Given the description of an element on the screen output the (x, y) to click on. 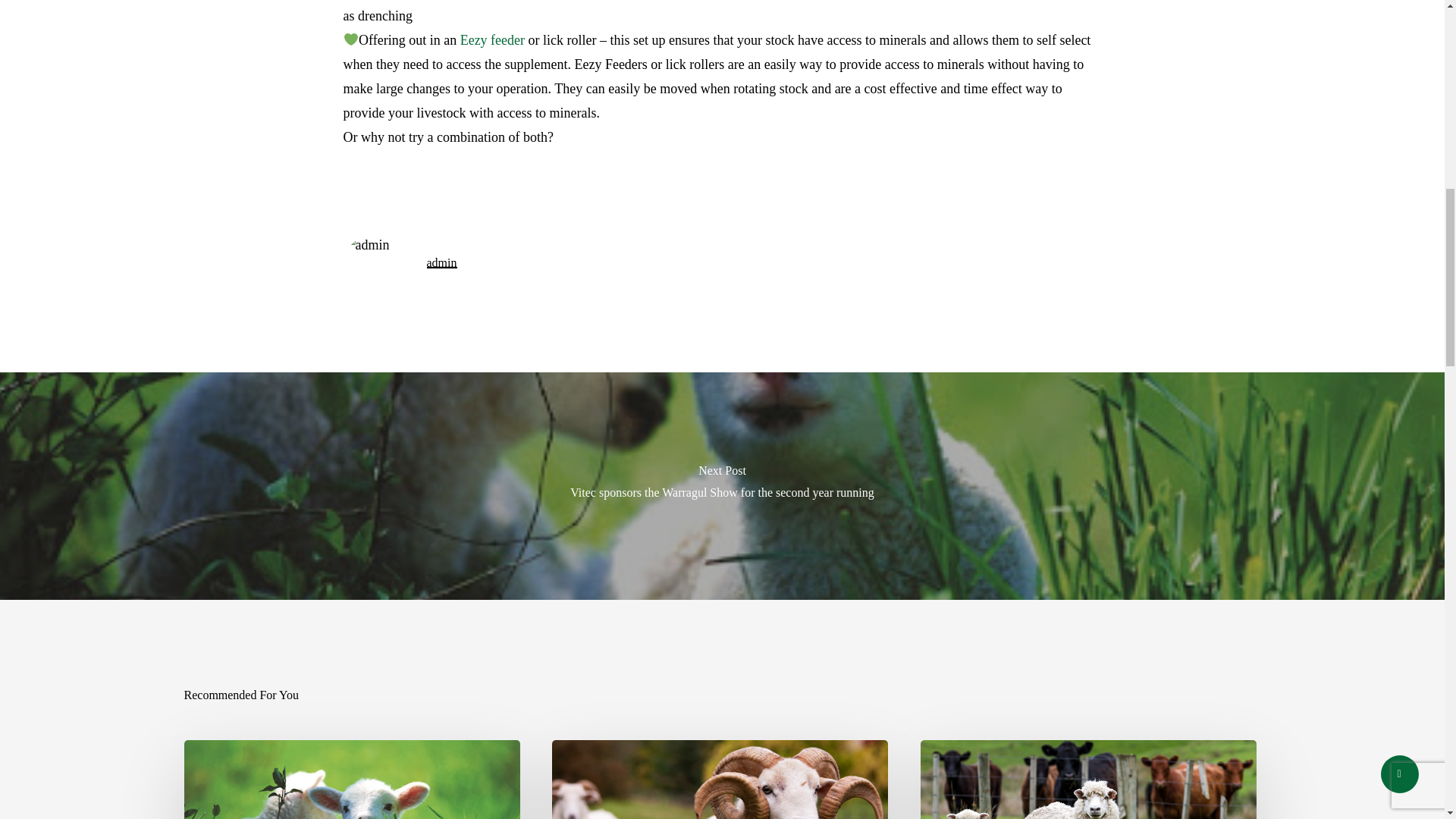
Eezy feeder (492, 39)
admin (441, 262)
